Given the description of an element on the screen output the (x, y) to click on. 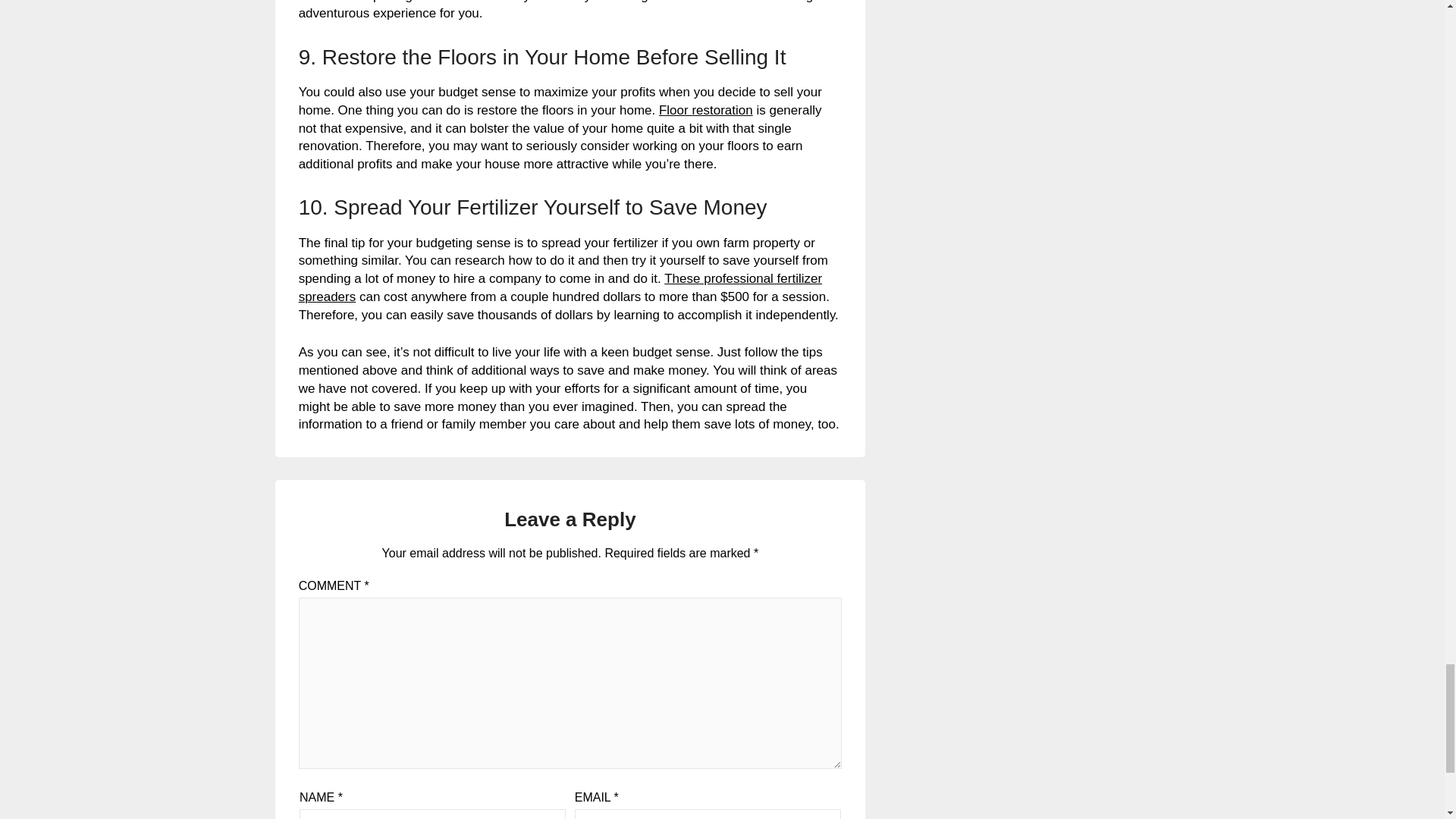
Floor restoration (705, 110)
These professional fertilizer spreaders (560, 287)
